Given the description of an element on the screen output the (x, y) to click on. 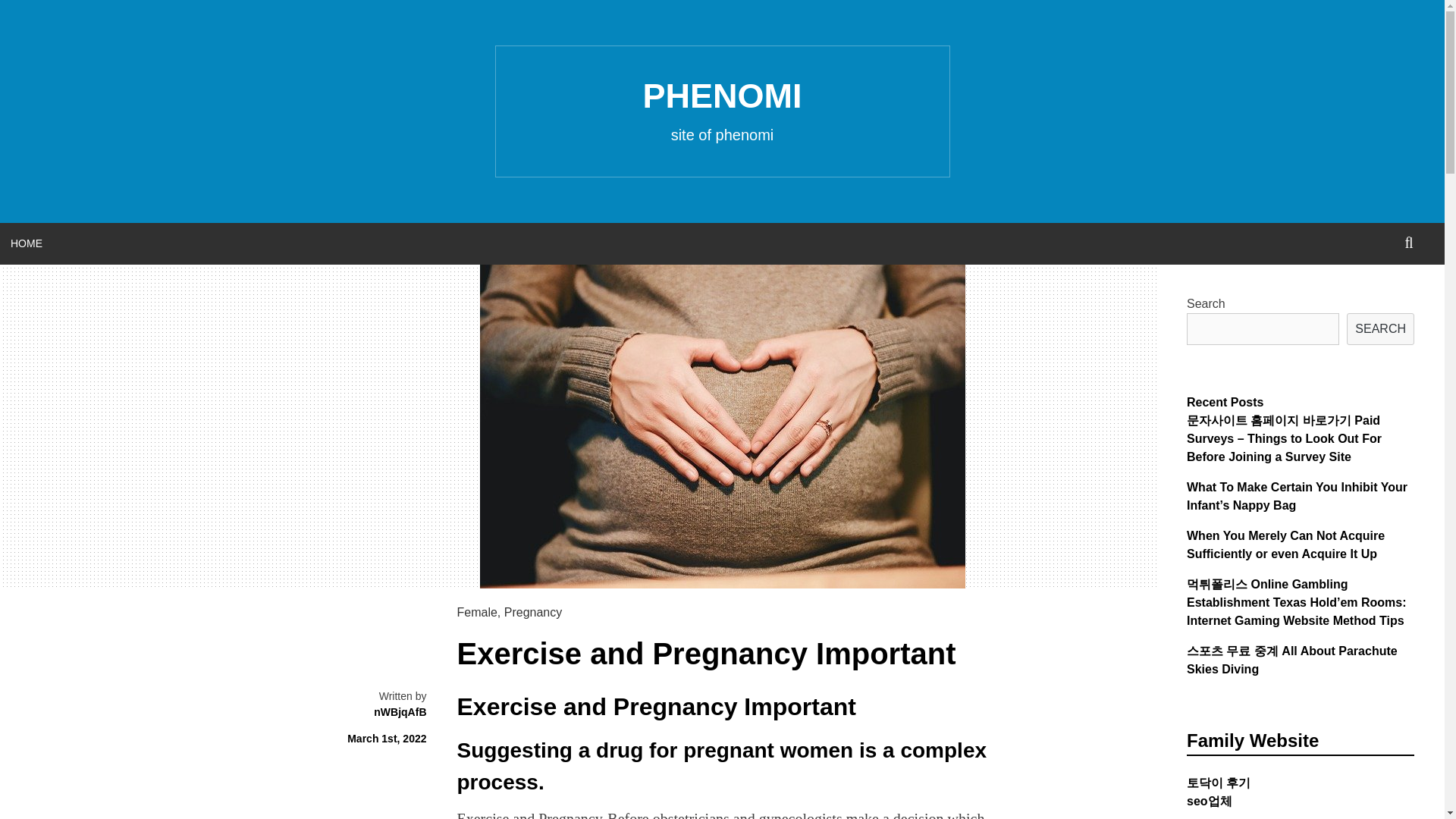
PHENOMI (722, 95)
HOME (26, 243)
SEARCH (1379, 328)
Pregnancy (532, 612)
nWBjqAfB (400, 711)
March 1st, 2022 (386, 738)
SEARCH (1409, 242)
Female (476, 612)
